Given the description of an element on the screen output the (x, y) to click on. 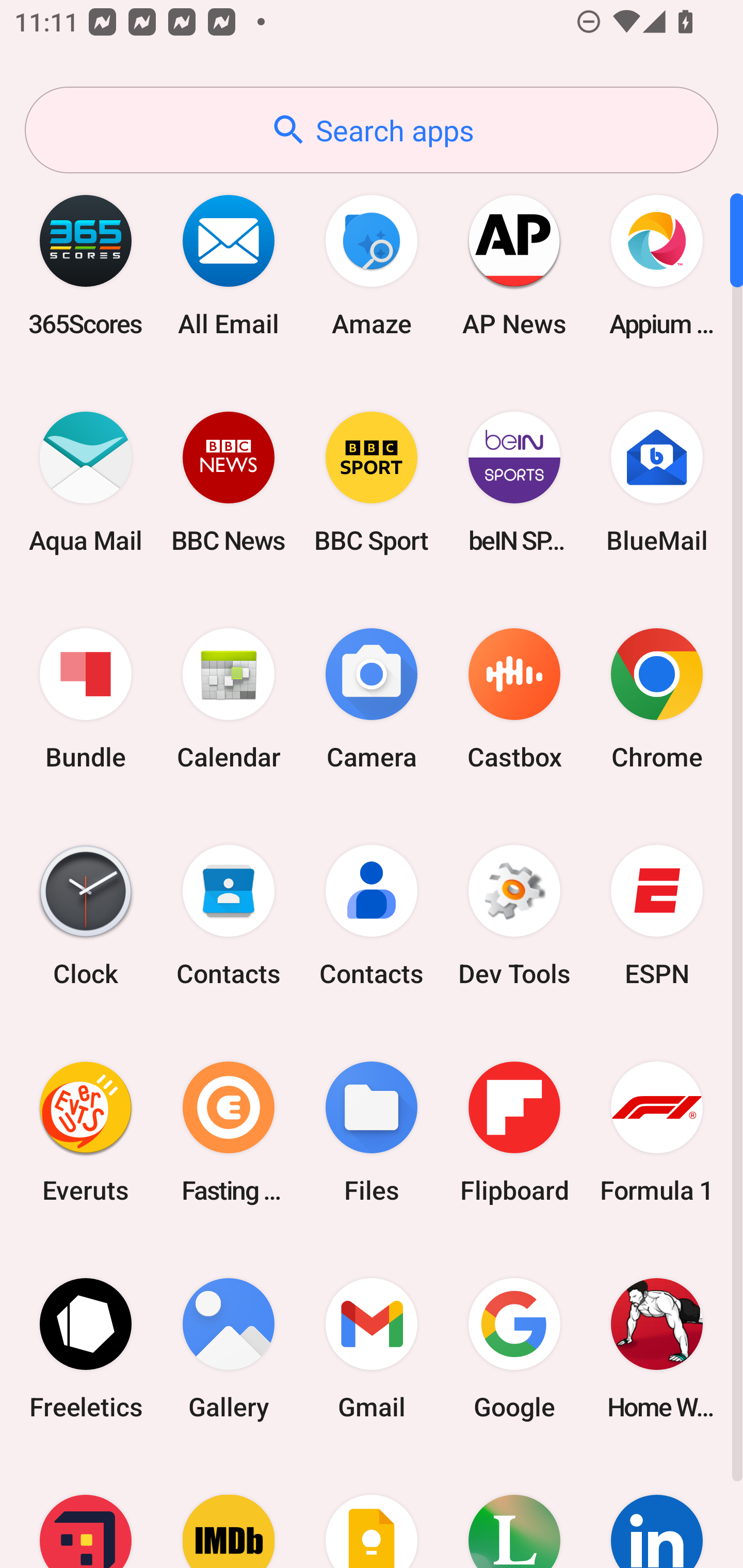
  Search apps (371, 130)
365Scores (85, 264)
All Email (228, 264)
Amaze (371, 264)
AP News (514, 264)
Appium Settings (656, 264)
Aqua Mail (85, 482)
BBC News (228, 482)
BBC Sport (371, 482)
beIN SPORTS (514, 482)
BlueMail (656, 482)
Bundle (85, 699)
Calendar (228, 699)
Camera (371, 699)
Castbox (514, 699)
Chrome (656, 699)
Clock (85, 915)
Contacts (228, 915)
Contacts (371, 915)
Dev Tools (514, 915)
ESPN (656, 915)
Everuts (85, 1131)
Fasting Coach (228, 1131)
Files (371, 1131)
Flipboard (514, 1131)
Formula 1 (656, 1131)
Freeletics (85, 1348)
Gallery (228, 1348)
Gmail (371, 1348)
Google (514, 1348)
Home Workout (656, 1348)
Hotels.com (85, 1512)
IMDb (228, 1512)
Keep Notes (371, 1512)
Lifesum (514, 1512)
LinkedIn (656, 1512)
